Given the description of an element on the screen output the (x, y) to click on. 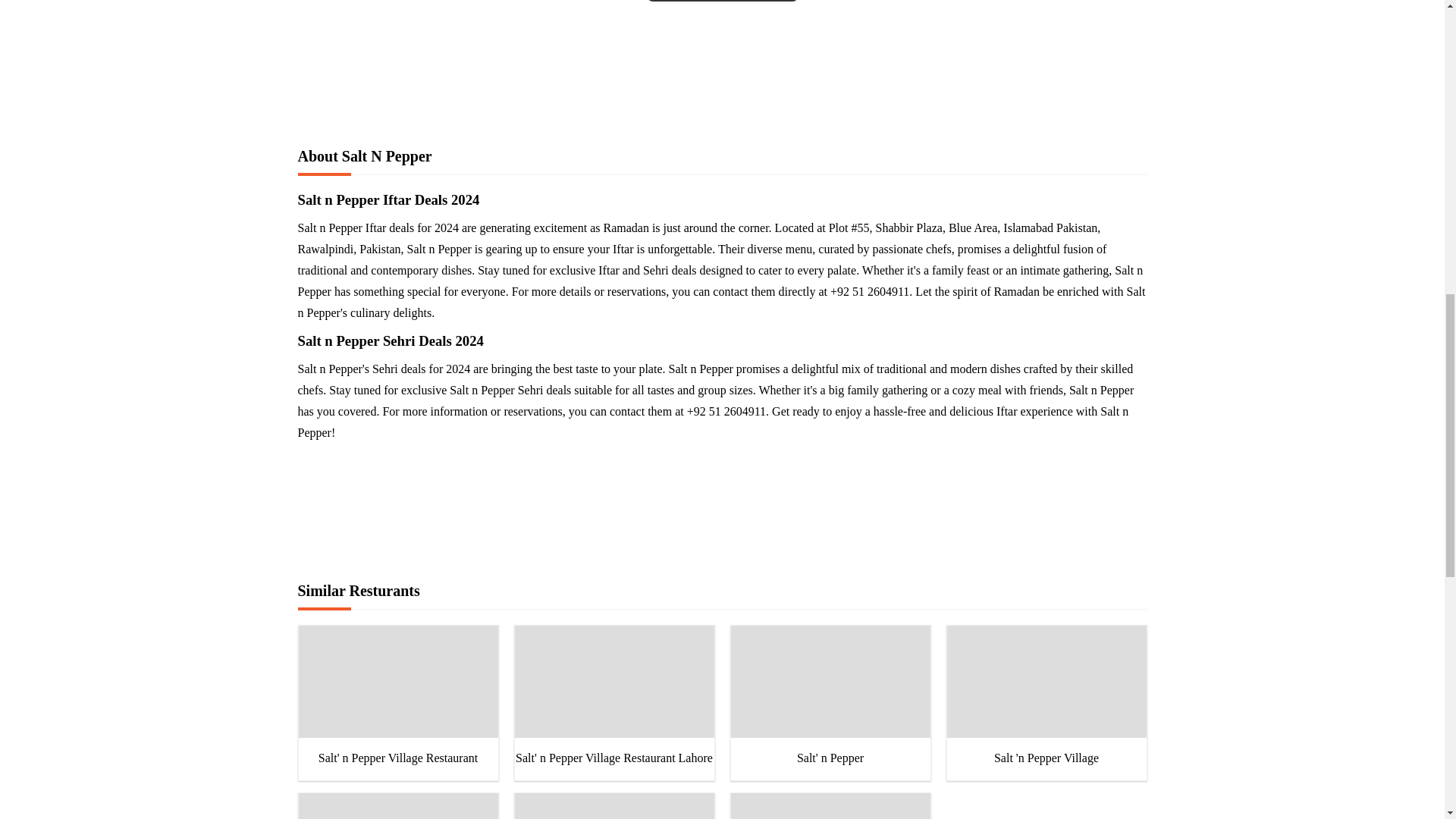
Salt' n Pepper Village Restaurant Lahore (613, 696)
Salt 'n Pepper Village (1045, 696)
Salt'n Pepper (613, 806)
Salt'n'Pepper (397, 806)
Salt'n Pepper (613, 806)
Salt 'n Pepper Village (1045, 696)
Salt' n Pepper Village Restaurant (397, 696)
Saltanat Restaurant (830, 806)
Saltanat Restaurant (830, 806)
Salt' n Pepper Village Restaurant Lahore (613, 696)
Salt' n Pepper (830, 696)
Salt'n'Pepper (397, 806)
Salt' n Pepper (830, 696)
Salt' n Pepper Village Restaurant (397, 696)
